Given the description of an element on the screen output the (x, y) to click on. 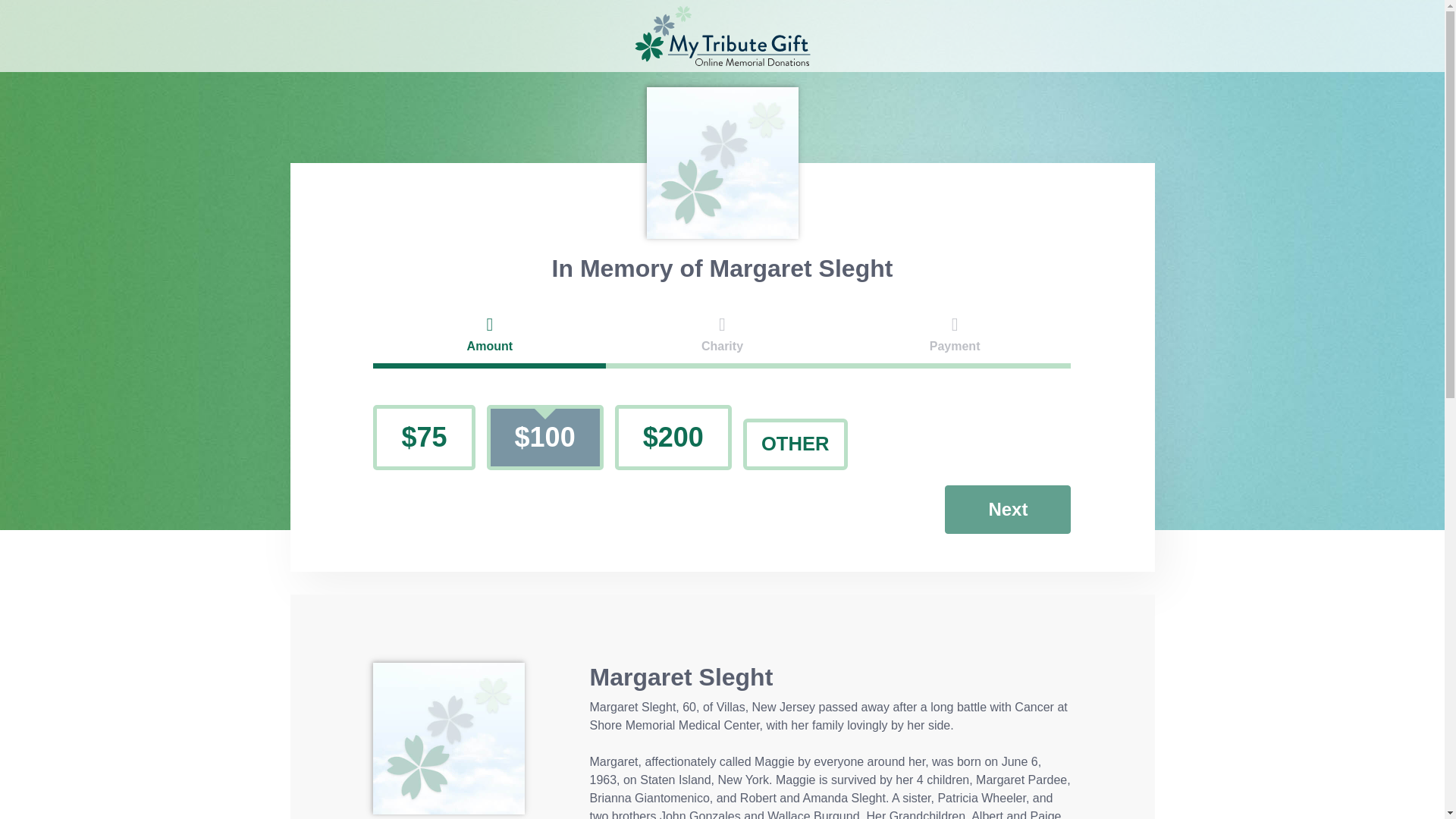
Next (1007, 509)
Next (1007, 509)
